Given the description of an element on the screen output the (x, y) to click on. 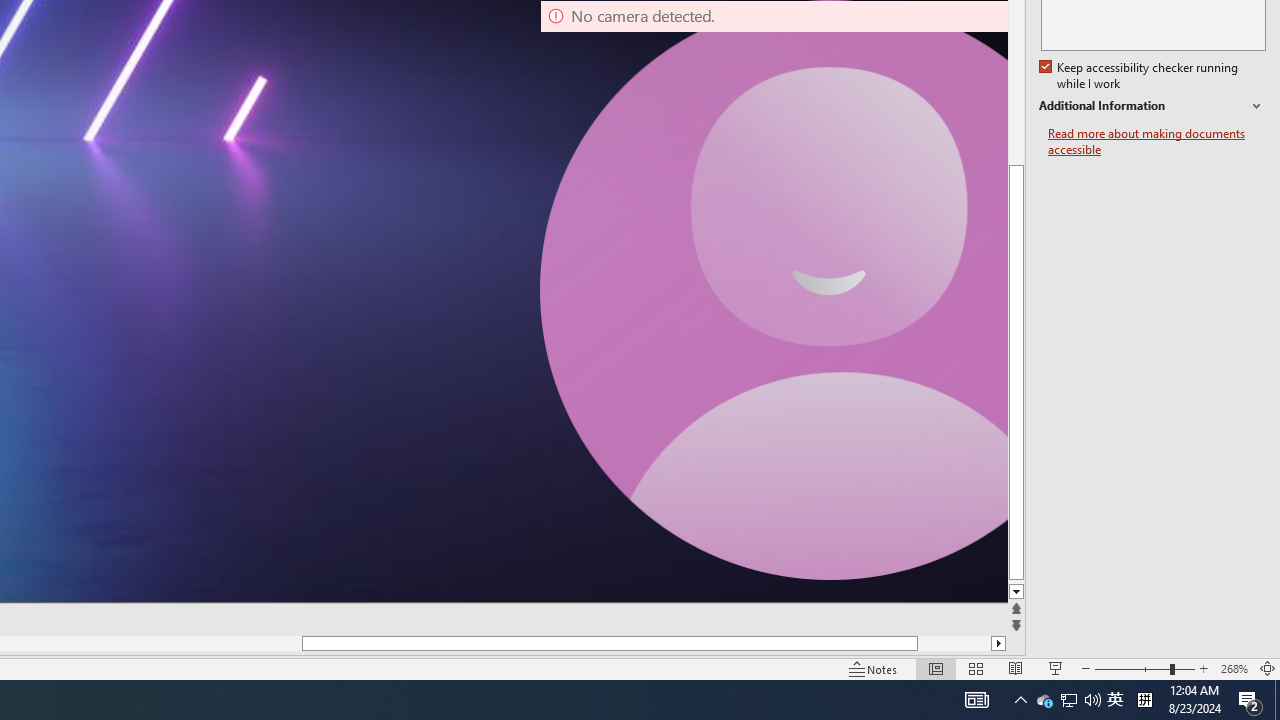
Zoom 268% (1234, 668)
